Given the description of an element on the screen output the (x, y) to click on. 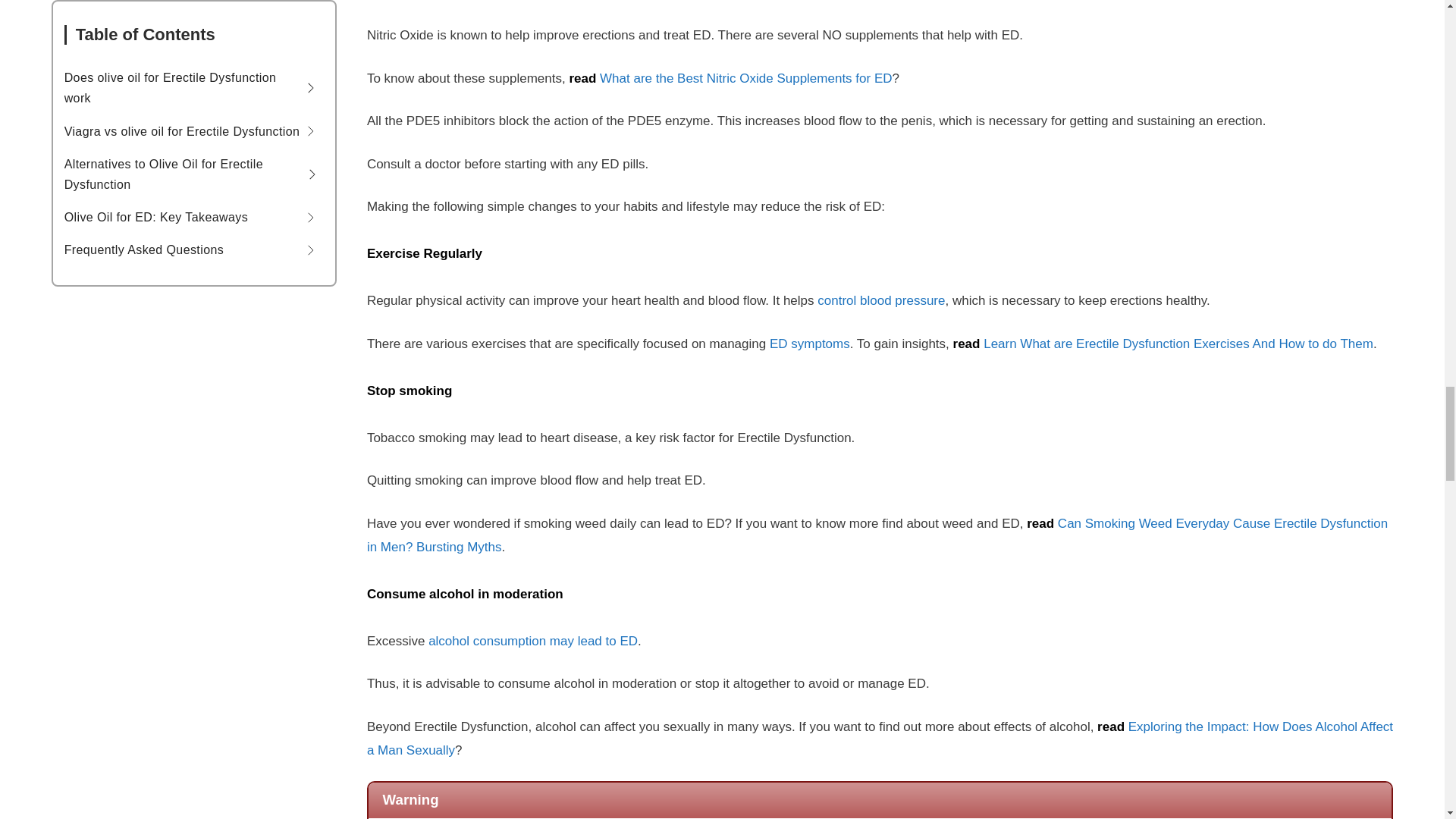
ED symptoms (810, 343)
